Given the description of an element on the screen output the (x, y) to click on. 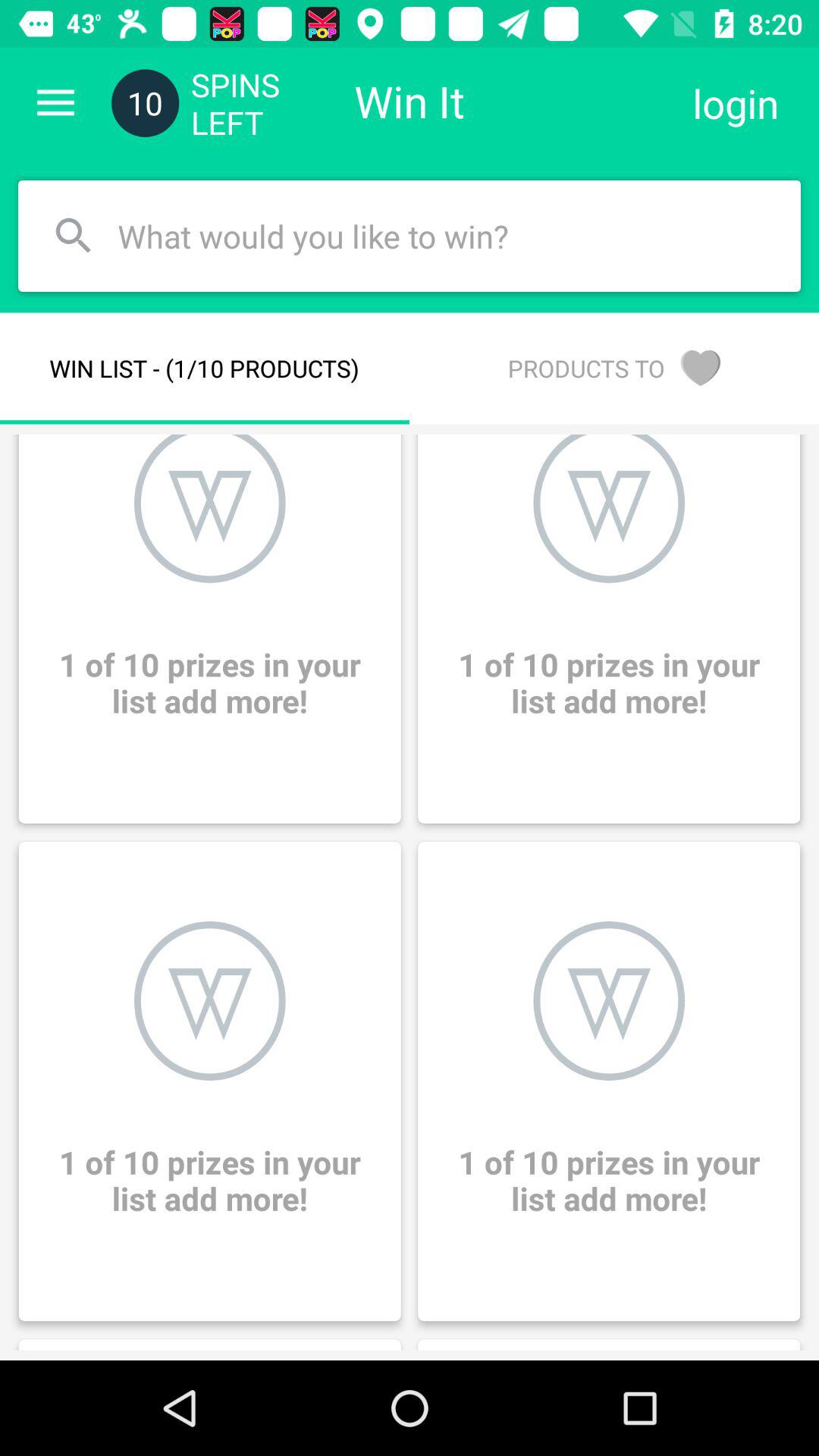
jump to the login (735, 102)
